Given the description of an element on the screen output the (x, y) to click on. 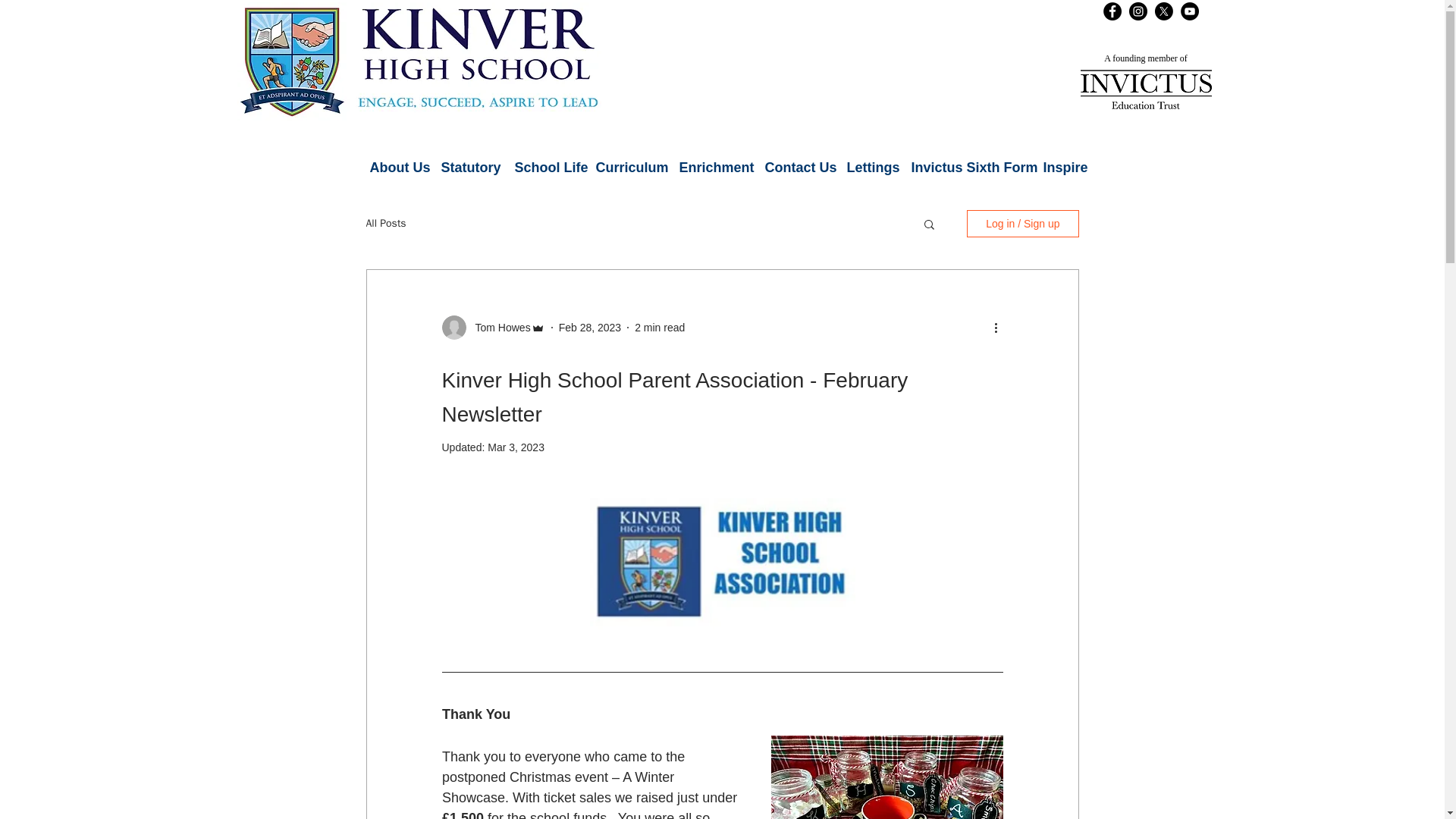
Mar 3, 2023 (515, 447)
2 min read (659, 327)
KINVER LOGO.jpg (417, 61)
Feb 28, 2023 (590, 327)
Tom Howes (497, 327)
